Given the description of an element on the screen output the (x, y) to click on. 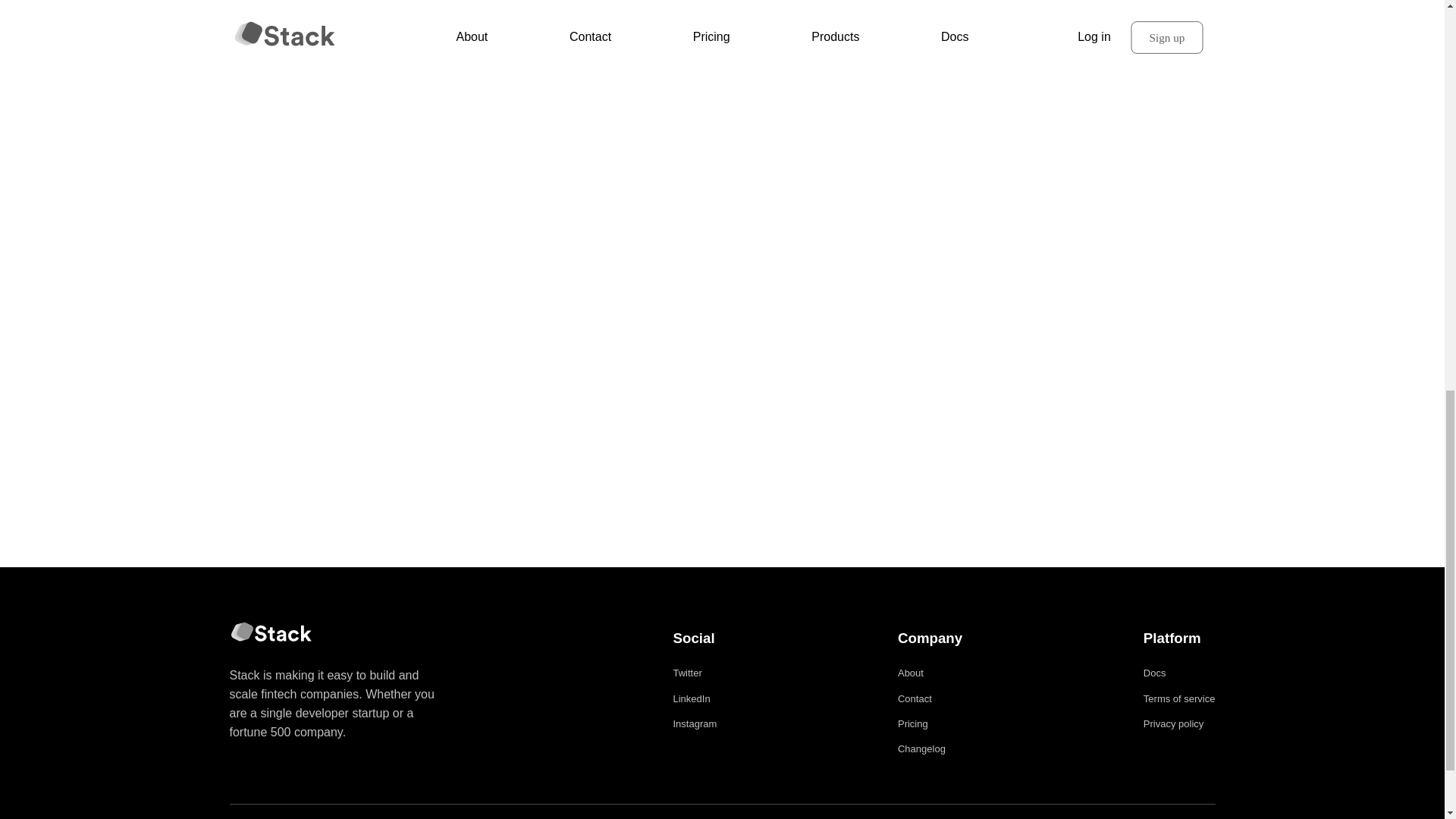
Terms of service (1178, 697)
Changelog (921, 748)
Privacy policy (1173, 723)
Docs (1154, 672)
Contact (914, 697)
Instagram (694, 723)
About (910, 672)
Pricing (913, 723)
Twitter (686, 672)
LinkedIn (691, 697)
